Given the description of an element on the screen output the (x, y) to click on. 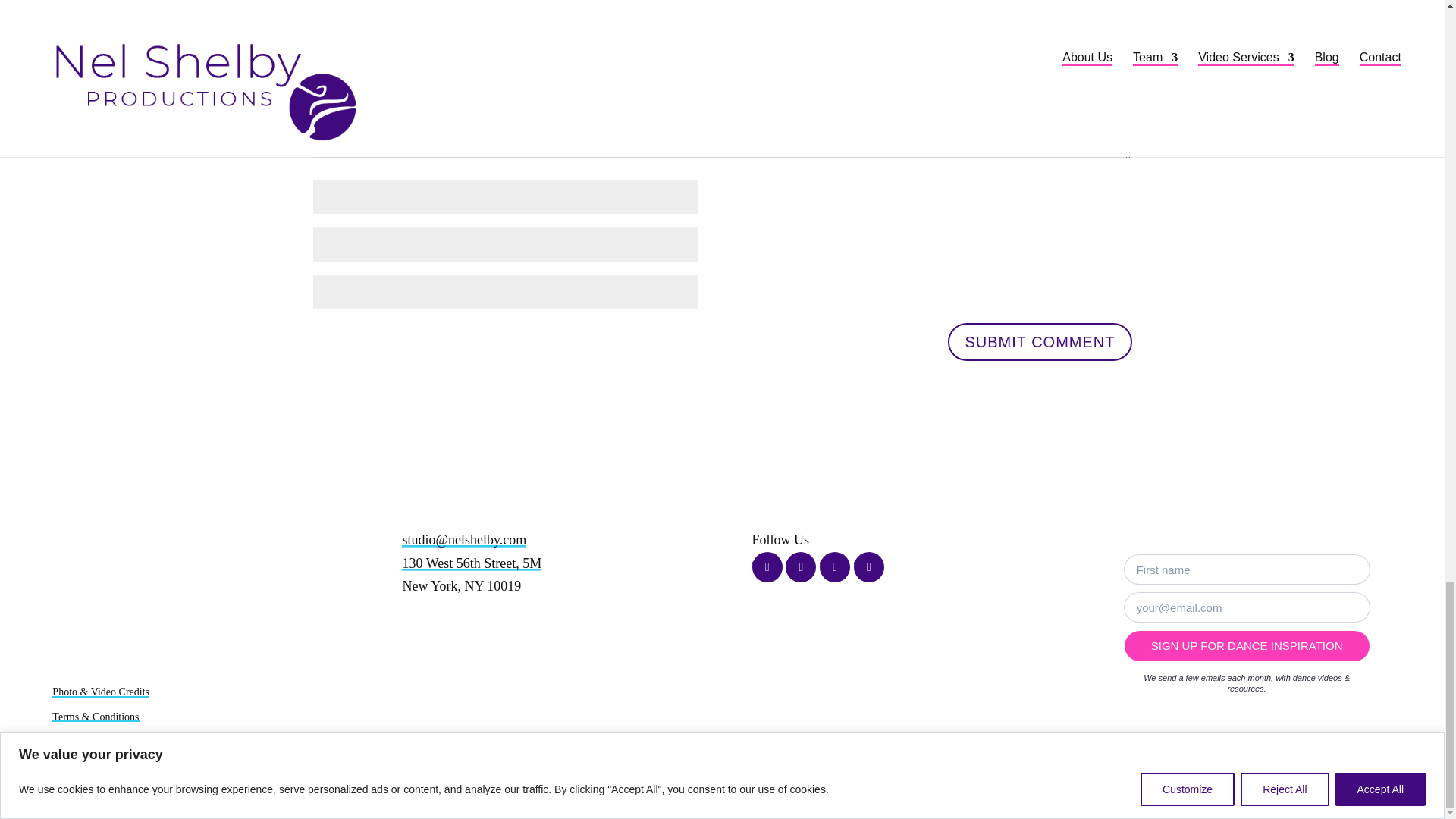
Submit Comment (1039, 341)
